Given the description of an element on the screen output the (x, y) to click on. 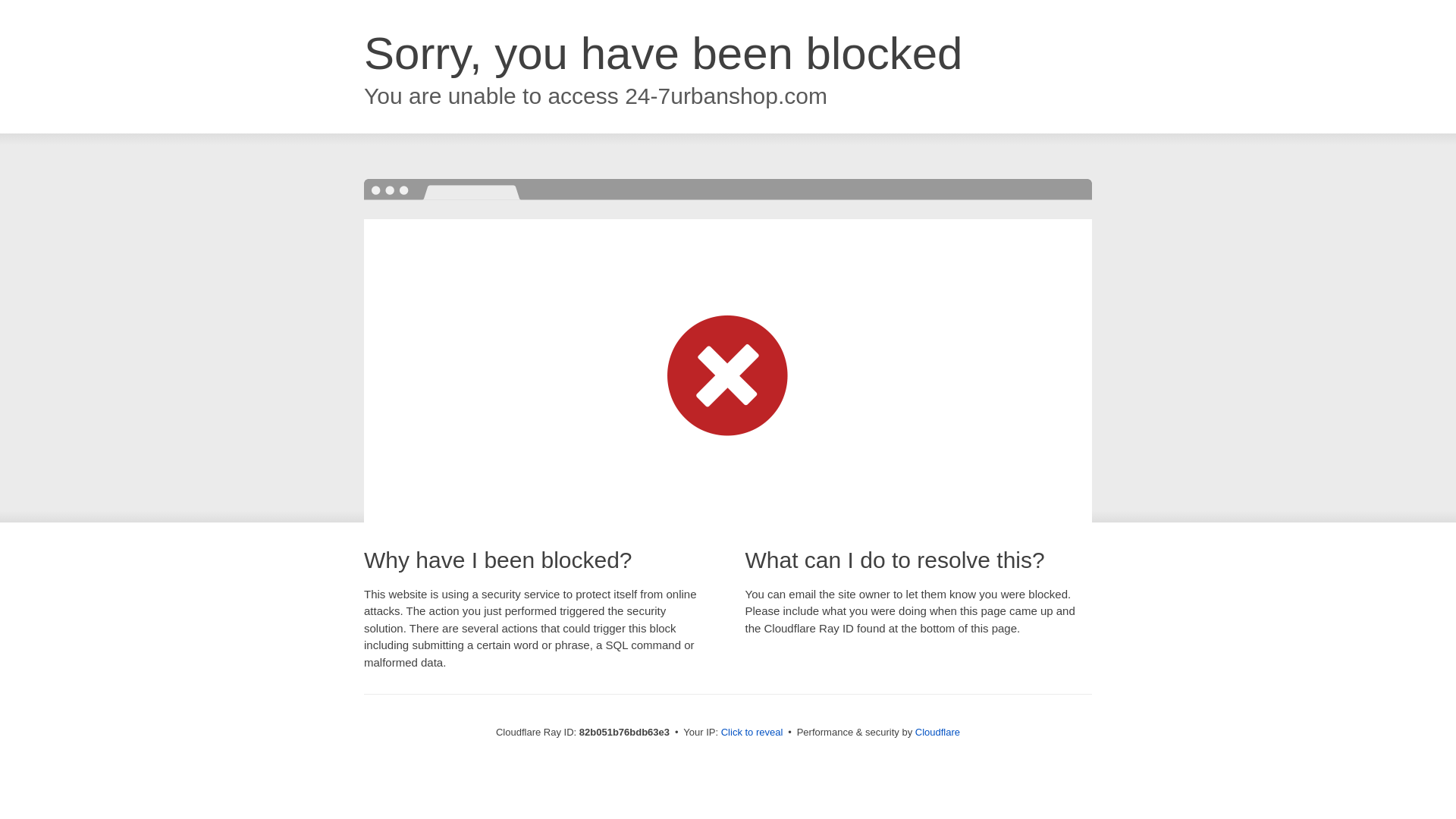
Cloudflare Element type: text (937, 731)
Click to reveal Element type: text (752, 732)
